Given the description of an element on the screen output the (x, y) to click on. 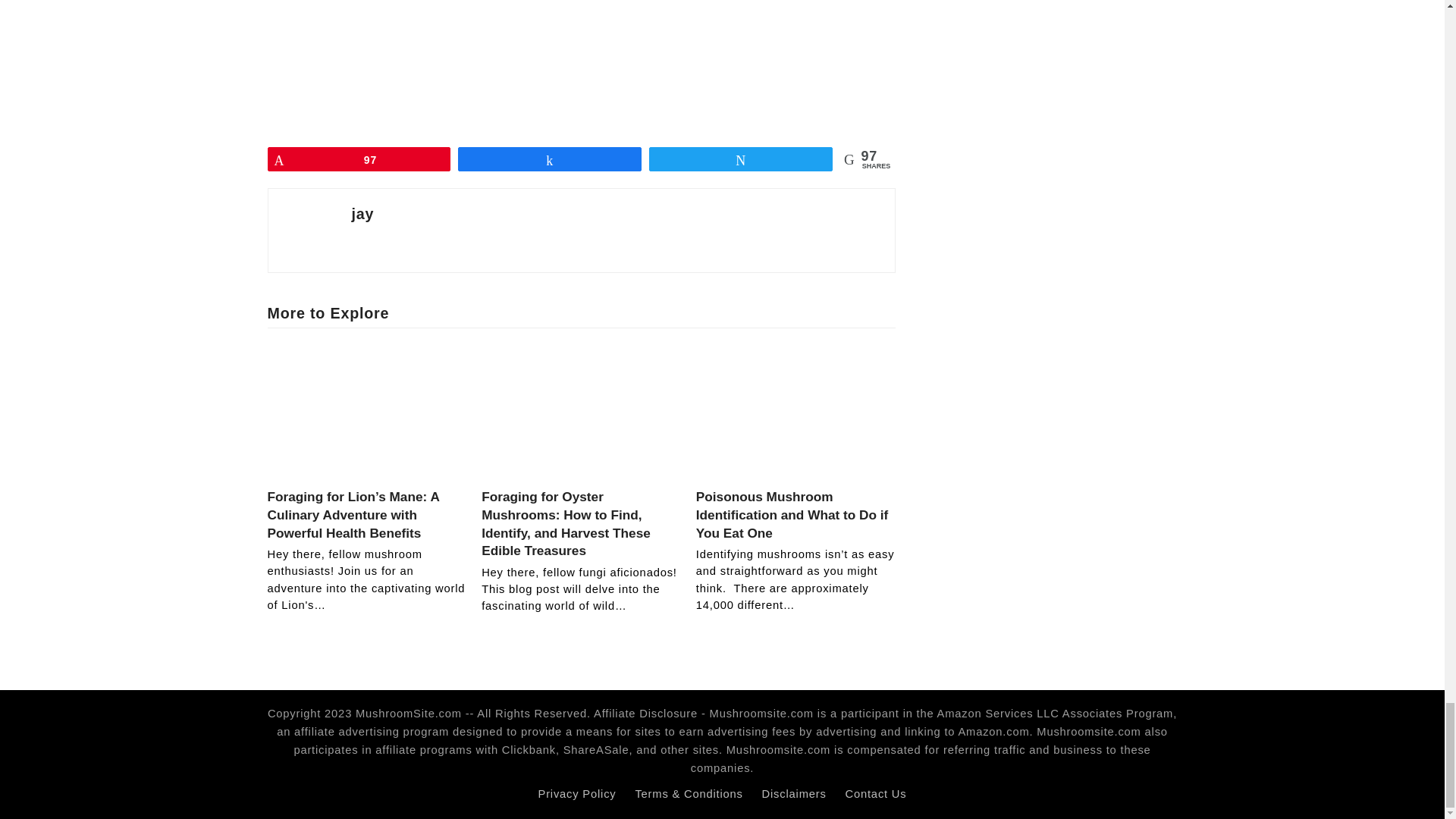
Visit Author Page (363, 213)
Privacy Policy (576, 793)
jay (363, 213)
97 (358, 159)
Visit Author Page (309, 228)
